Given the description of an element on the screen output the (x, y) to click on. 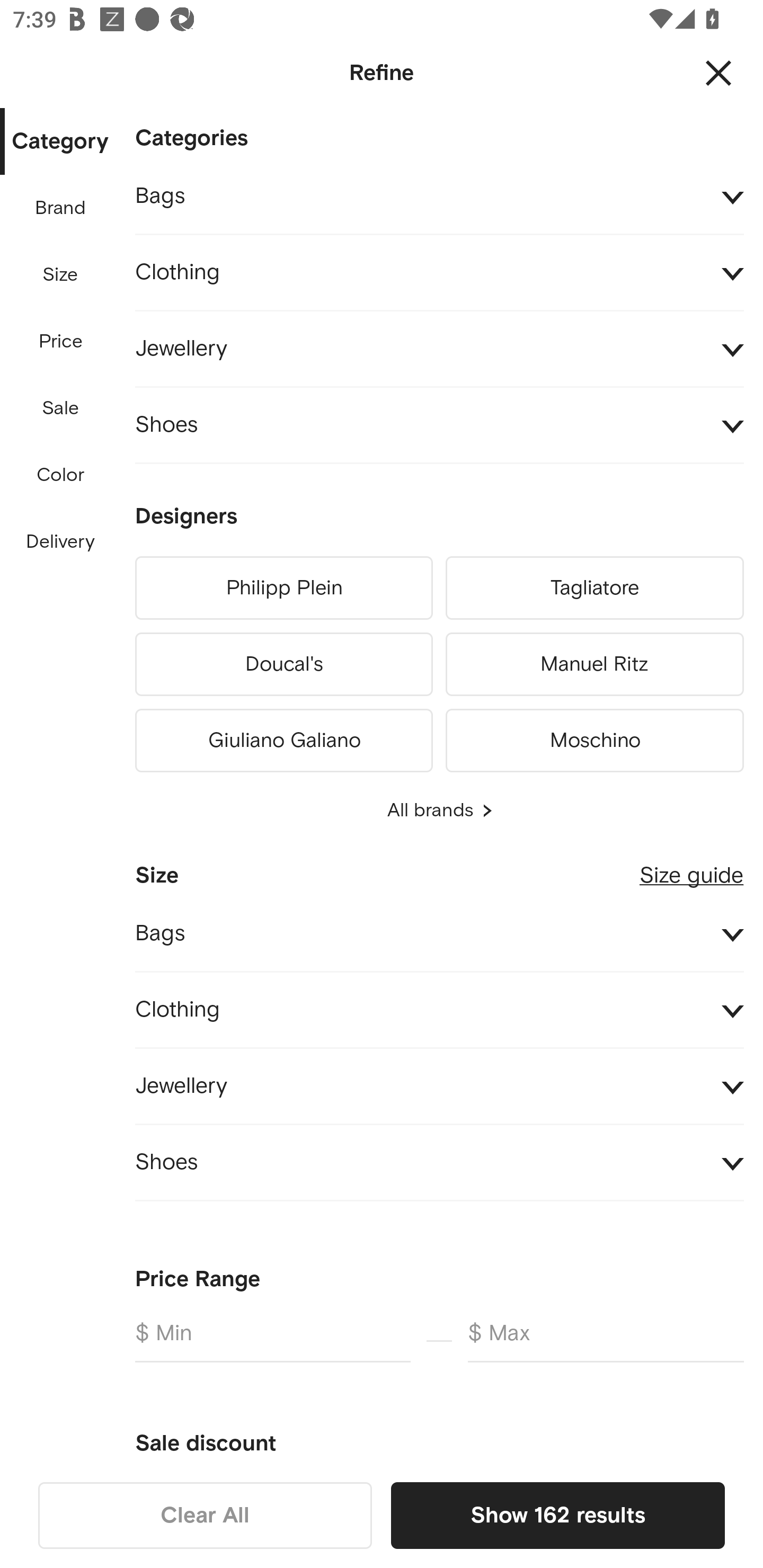
Category (60, 141)
Bags (439, 196)
Brand (60, 208)
Clothing (439, 272)
Size (60, 274)
Price (60, 342)
Jewellery (439, 348)
Sale (60, 408)
Shoes (439, 425)
Color (60, 475)
Delivery (60, 542)
Philipp Plein (283, 587)
Tagliatore (594, 587)
Doucal's (283, 663)
Manuel Ritz (594, 663)
Giuliano Galiano (283, 737)
Moschino (594, 737)
All brands (439, 810)
Size guide (691, 867)
Bags (439, 933)
Clothing (439, 1010)
Jewellery (439, 1086)
Shoes (439, 1162)
$ Min (272, 1340)
$ Max (605, 1340)
Clear All (205, 1515)
Show 162 results (557, 1515)
